Given the description of an element on the screen output the (x, y) to click on. 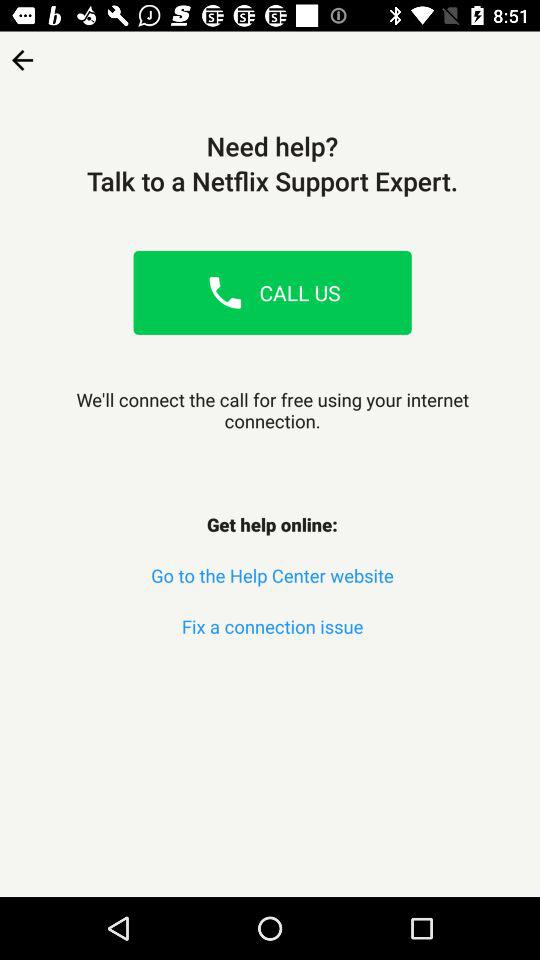
scroll until the fix a connection icon (272, 626)
